Given the description of an element on the screen output the (x, y) to click on. 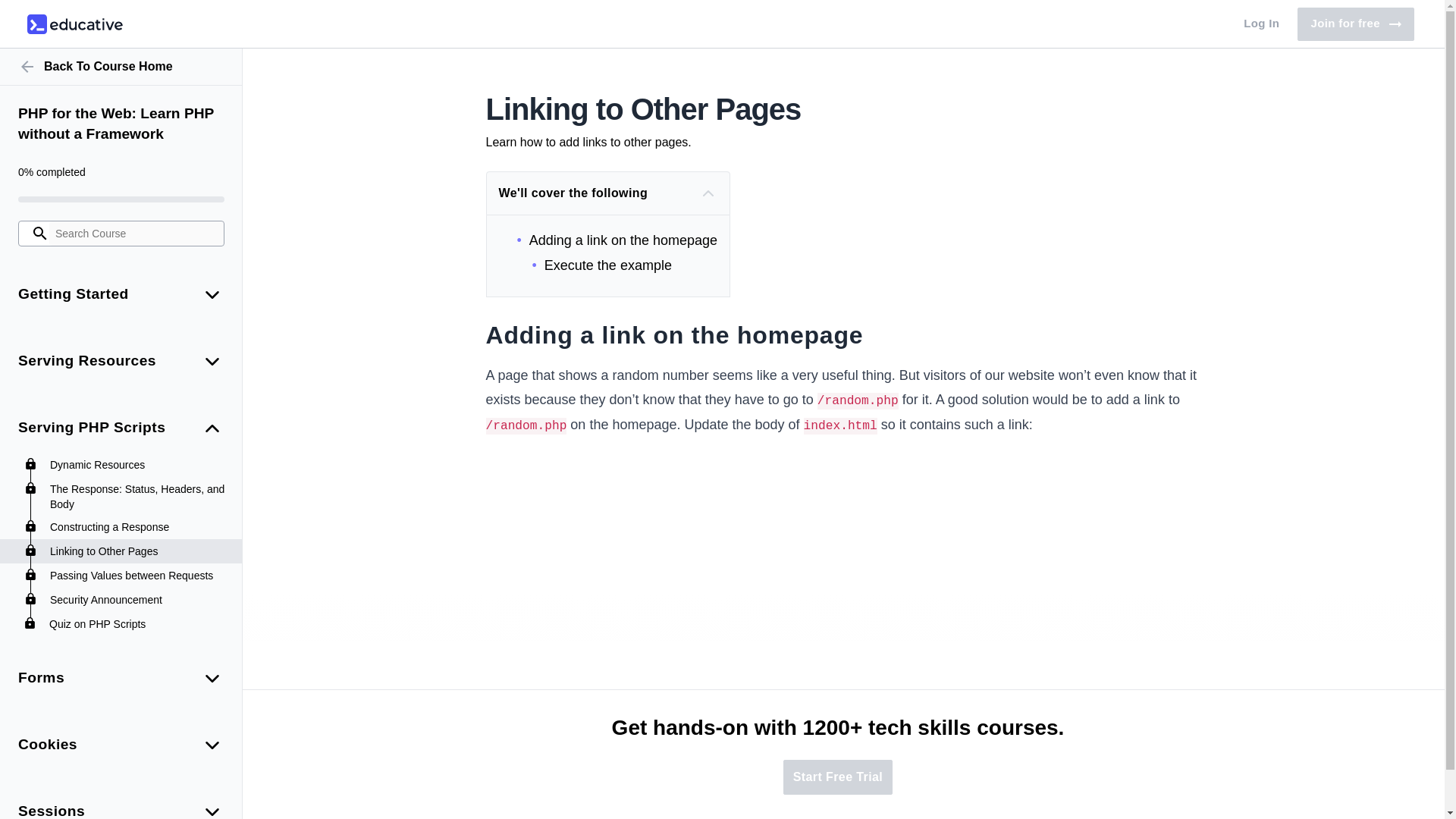
The Response: Status, Headers, and Body (138, 496)
educative.io (74, 23)
PHP for the Web: Learn PHP without a Framework (121, 124)
Security Announcement (138, 599)
Back To Course Home (121, 66)
Quiz on PHP Scripts (138, 623)
Dynamic Resources (138, 464)
Log In (1355, 23)
Passing Values between Requests (1261, 23)
